Given the description of an element on the screen output the (x, y) to click on. 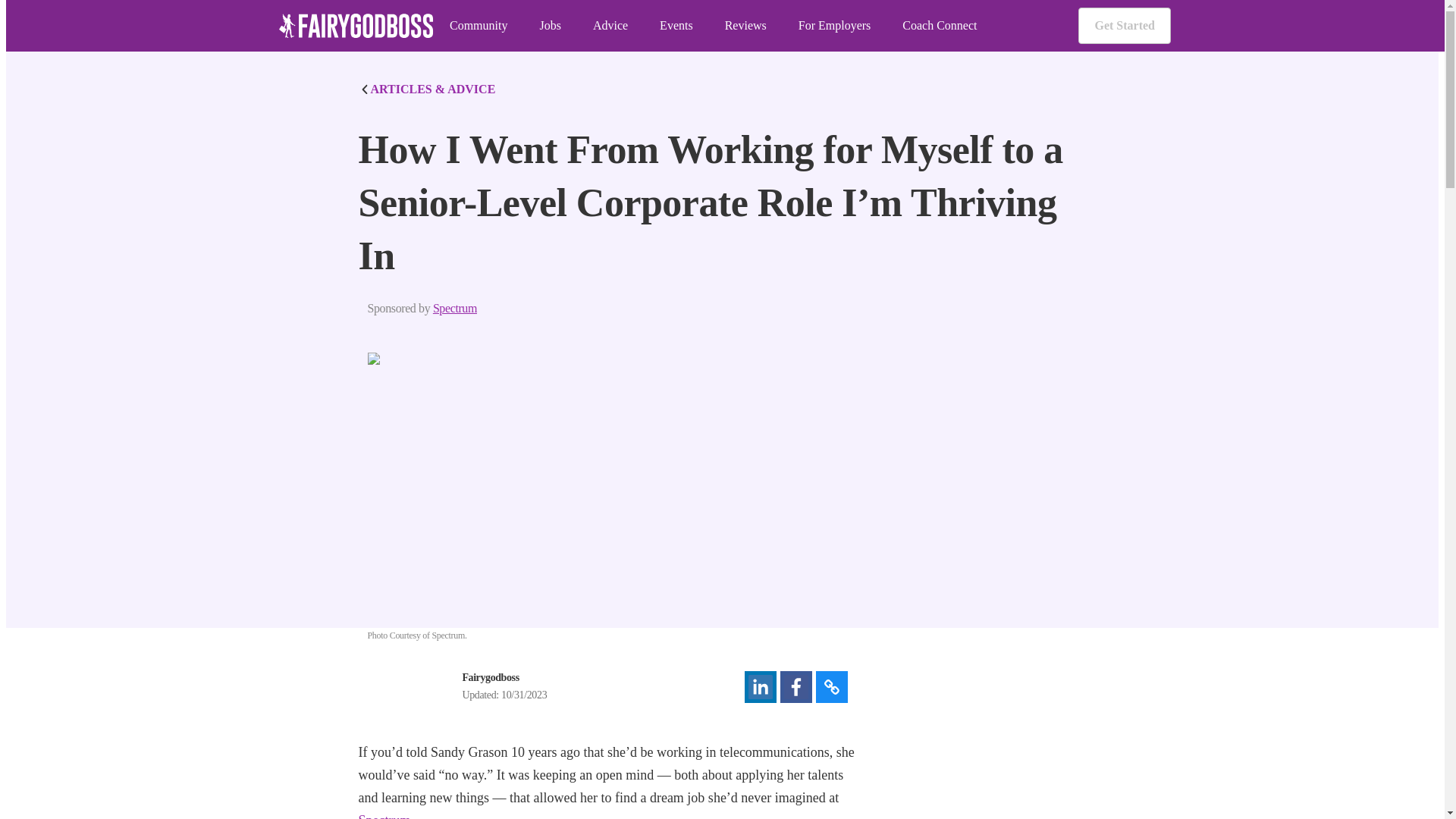
Get Started (1124, 25)
Events (676, 25)
Jobs (549, 25)
Reviews (746, 25)
For Employers (833, 25)
Coach Connect (939, 25)
Advice (609, 25)
Coach Connect (939, 25)
Events (676, 25)
Jobs (549, 25)
